Given the description of an element on the screen output the (x, y) to click on. 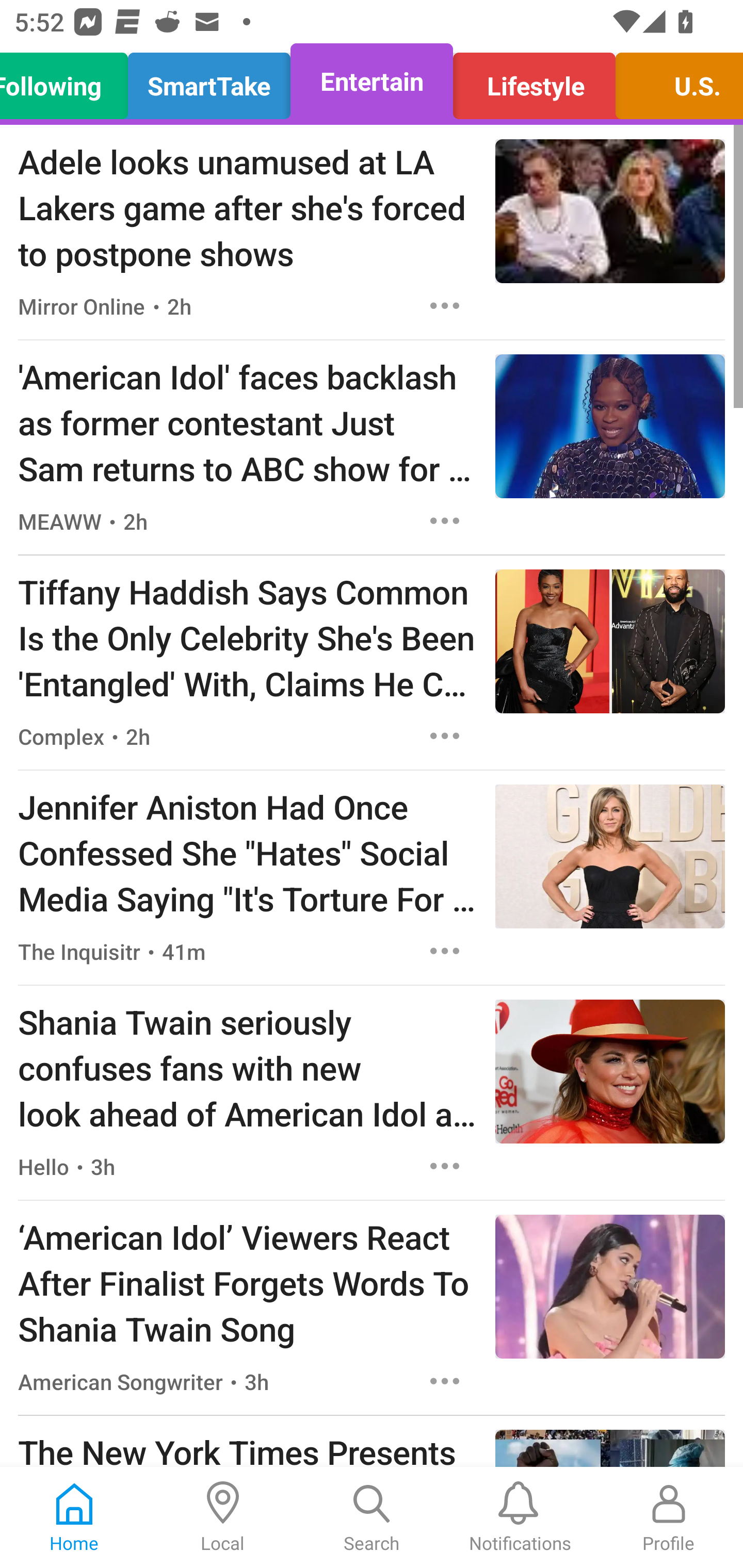
Following (69, 81)
SmartTake (209, 81)
Entertain (371, 81)
Lifestyle (534, 81)
U.S. (673, 81)
Options (444, 305)
Options (444, 520)
Options (444, 736)
Options (444, 950)
Options (444, 1166)
Options (444, 1381)
Local (222, 1517)
Search (371, 1517)
Notifications (519, 1517)
Profile (668, 1517)
